Given the description of an element on the screen output the (x, y) to click on. 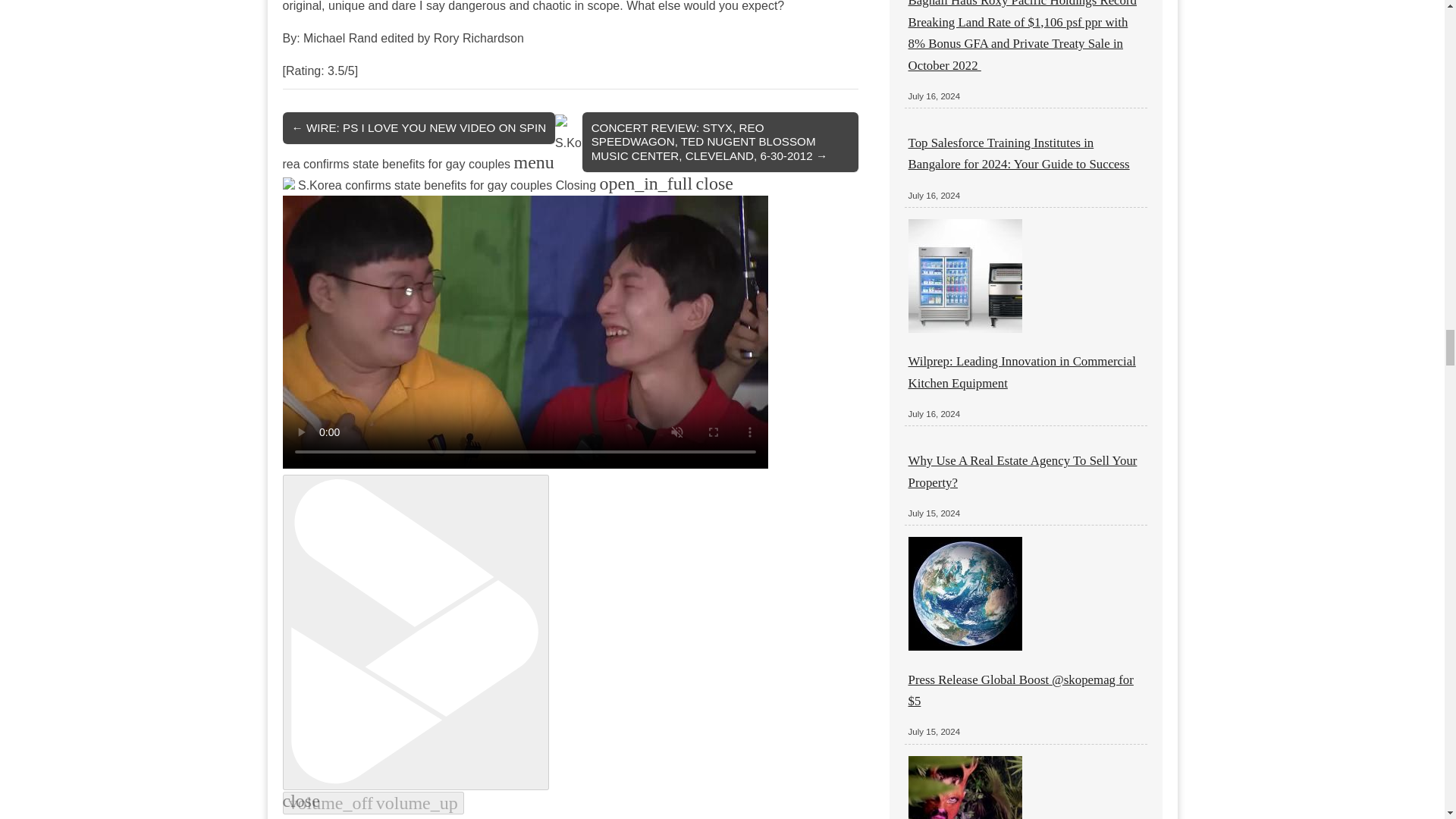
Wilprep: Leading Innovation in Commercial Kitchen Equipment (1021, 371)
Why Use A Real Estate Agency To Sell Your Property? (1022, 470)
